Given the description of an element on the screen output the (x, y) to click on. 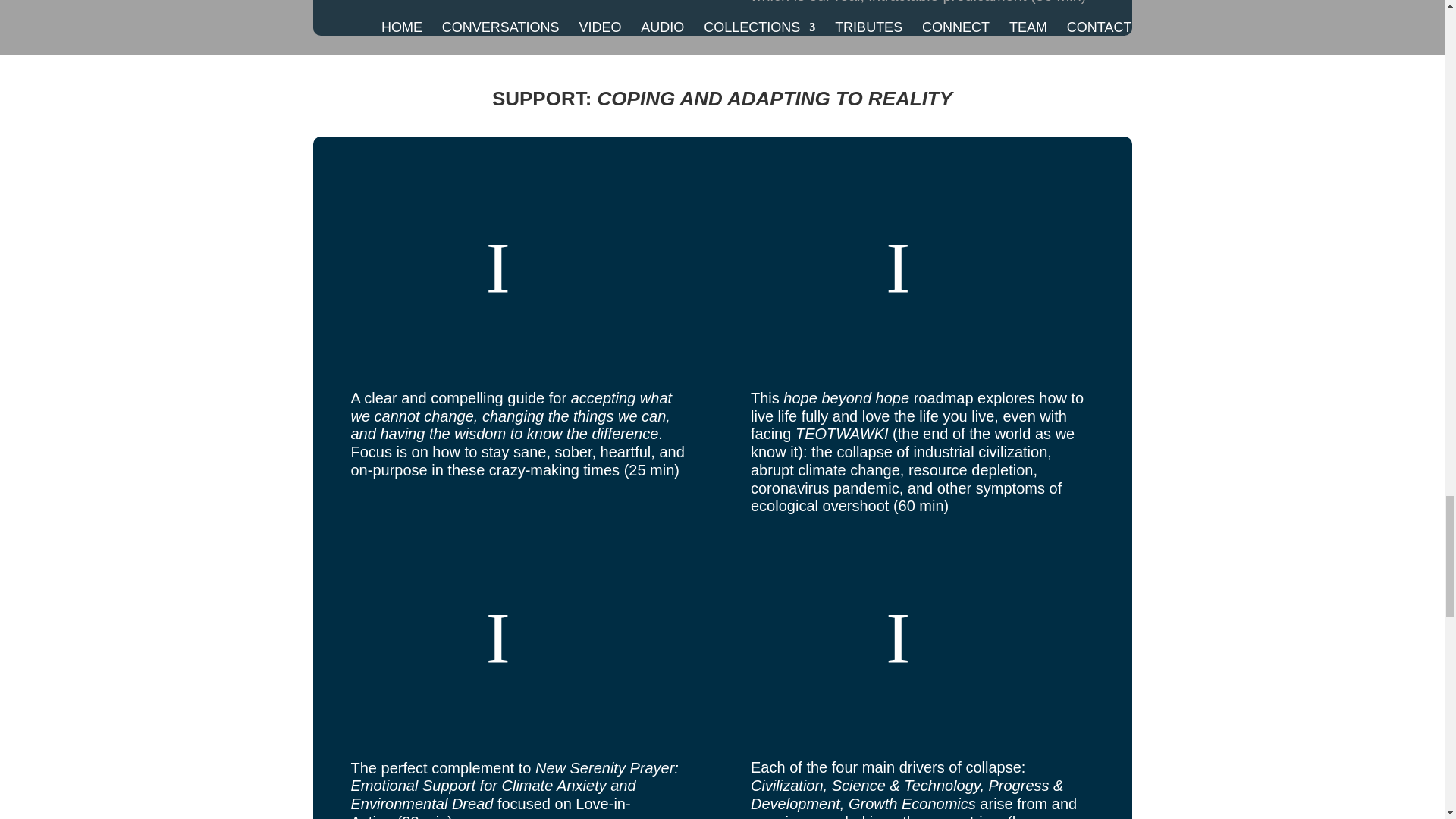
Collapse and Ecocide as Religious Failure - Dowd (922, 637)
